Given the description of an element on the screen output the (x, y) to click on. 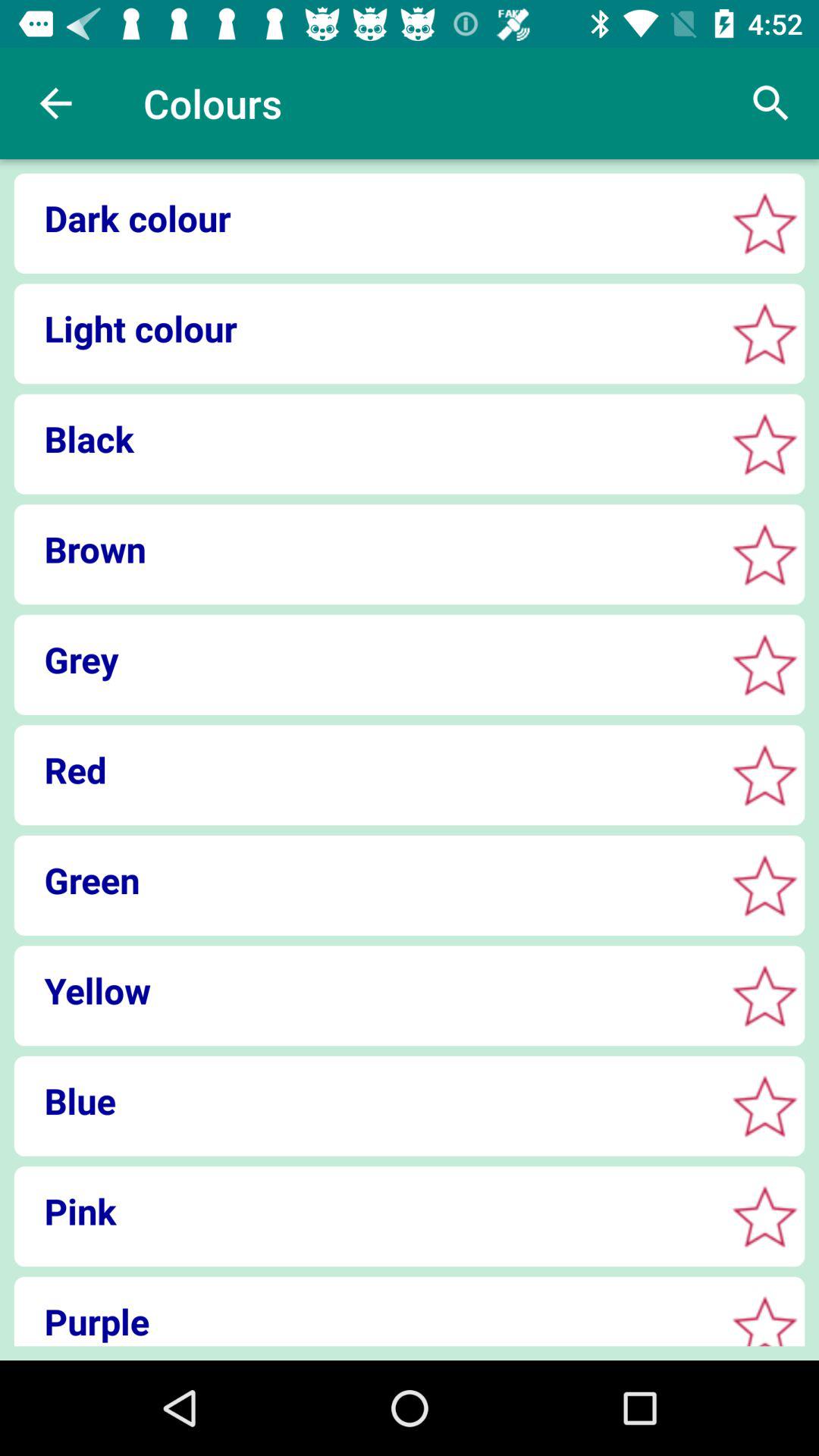
tap item to the left of colours (55, 103)
